Given the description of an element on the screen output the (x, y) to click on. 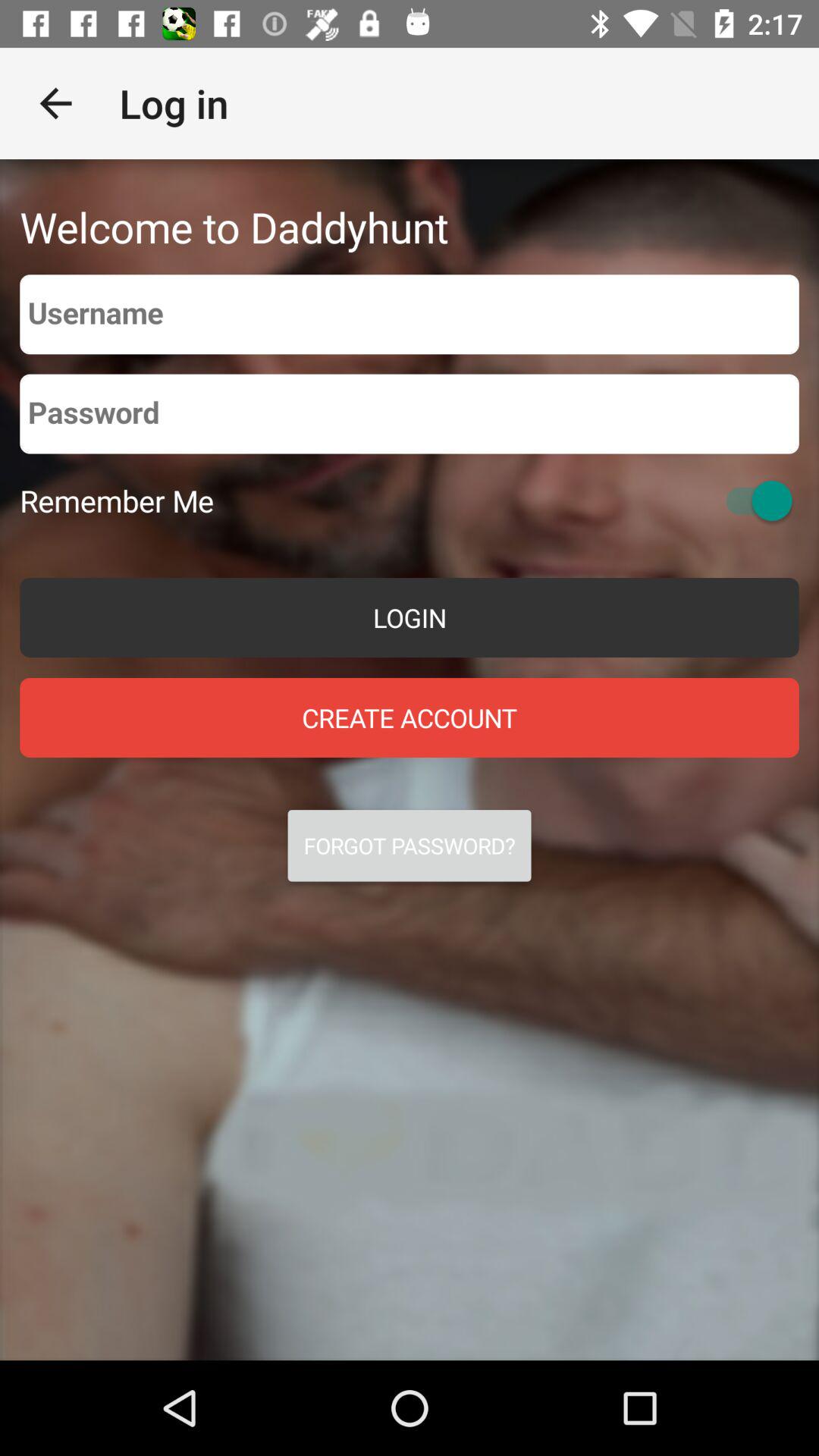
jump until login item (409, 617)
